Given the description of an element on the screen output the (x, y) to click on. 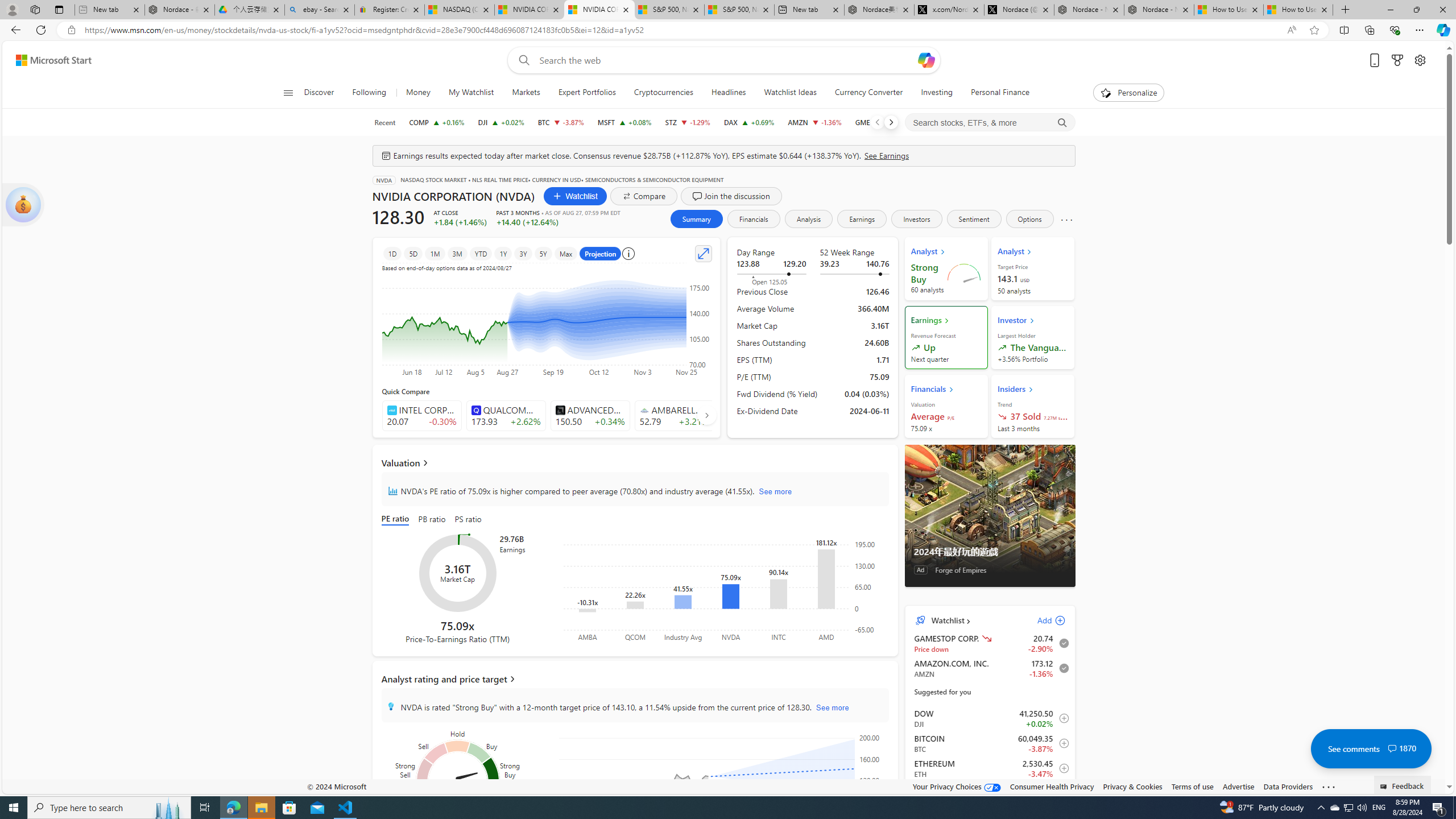
Projection (600, 253)
Class: cwt-icon-vector (1391, 748)
show card (22, 204)
Headlines (728, 92)
How to Use a Monitor With Your Closed Laptop (1297, 9)
Class: autoSuggestIcon-DS-EntryPoint1-1 (644, 409)
Cryptocurrencies (663, 92)
Add (1041, 620)
Terms of use (1192, 785)
